Given the description of an element on the screen output the (x, y) to click on. 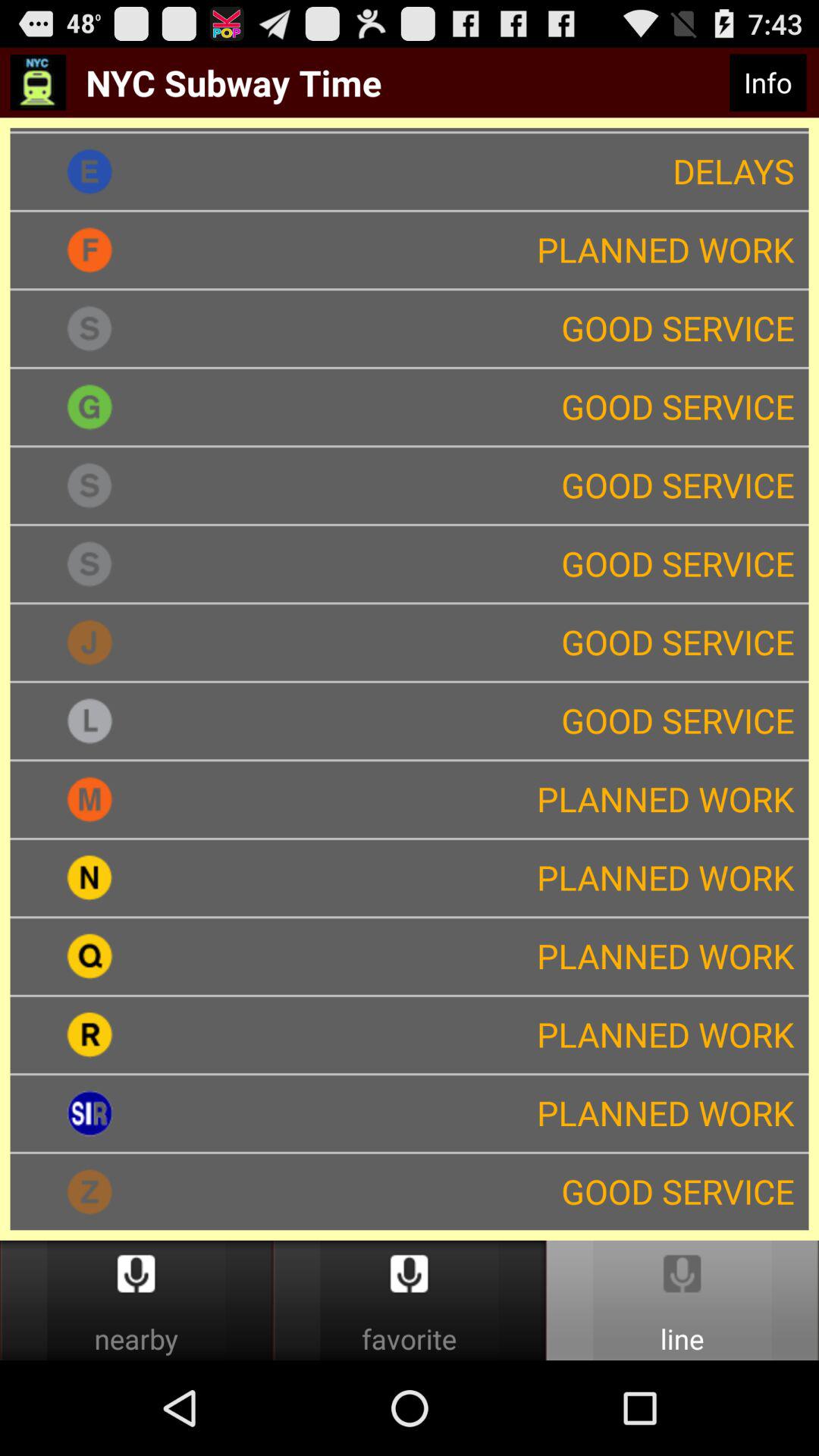
turn off icon next to the nyc subway time (767, 82)
